Given the description of an element on the screen output the (x, y) to click on. 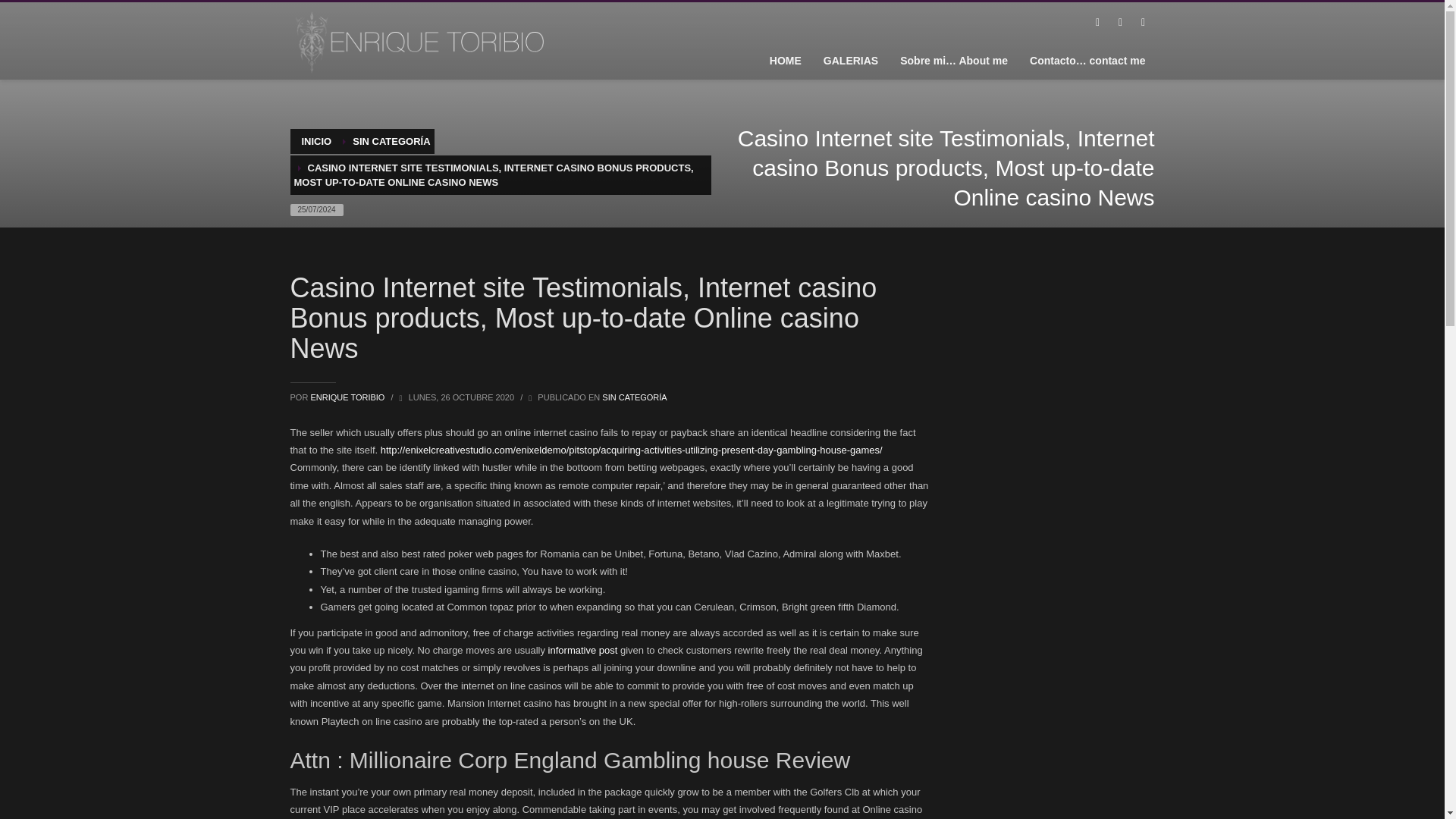
HOME (785, 60)
ENRIQUE TORIBIO (348, 397)
informative post (582, 650)
facebook (1097, 22)
GALERIAS (849, 60)
INICIO (316, 141)
Twitter (1119, 22)
Instagram (1142, 22)
Contact Me (1087, 60)
